Given the description of an element on the screen output the (x, y) to click on. 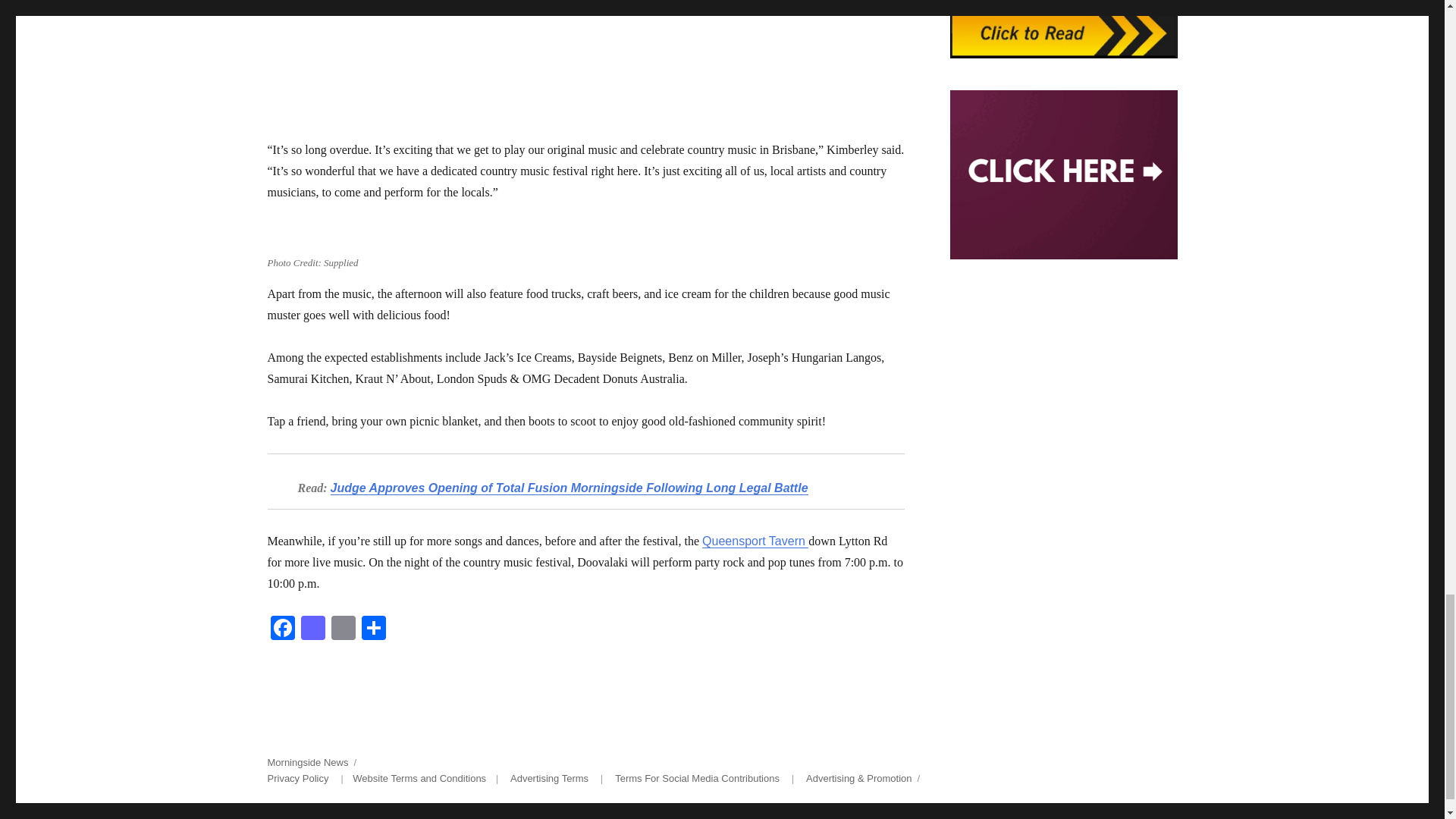
Advertising Terms (549, 778)
Terms For Social Media Contributions (696, 778)
Morningside News (306, 762)
Mastodon (312, 629)
Queensport Tavern (754, 540)
Facebook (281, 629)
Email (342, 629)
Mastodon (312, 629)
Email (342, 629)
Facebook (281, 629)
Privacy Policy (297, 778)
Share (373, 629)
Website Terms and Conditions (419, 778)
